Given the description of an element on the screen output the (x, y) to click on. 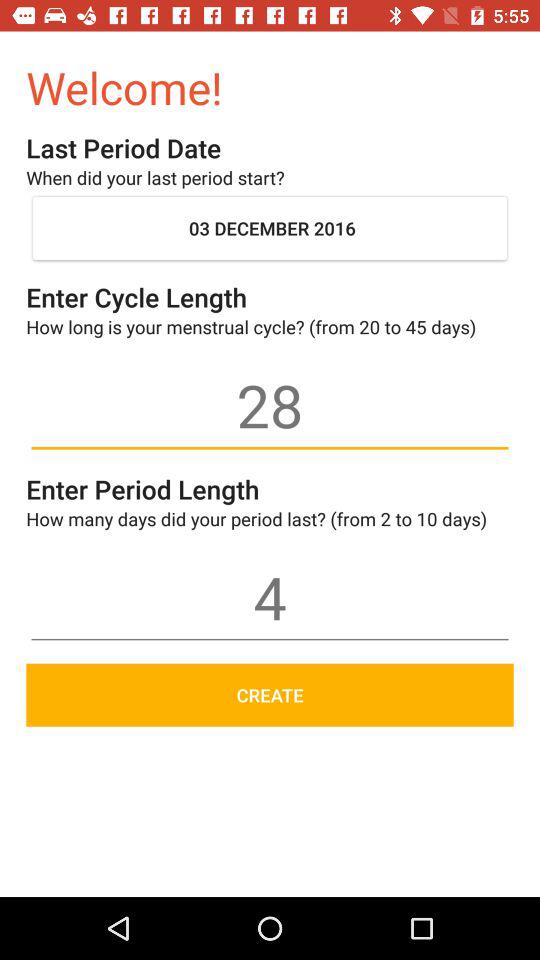
press create icon (269, 694)
